Given the description of an element on the screen output the (x, y) to click on. 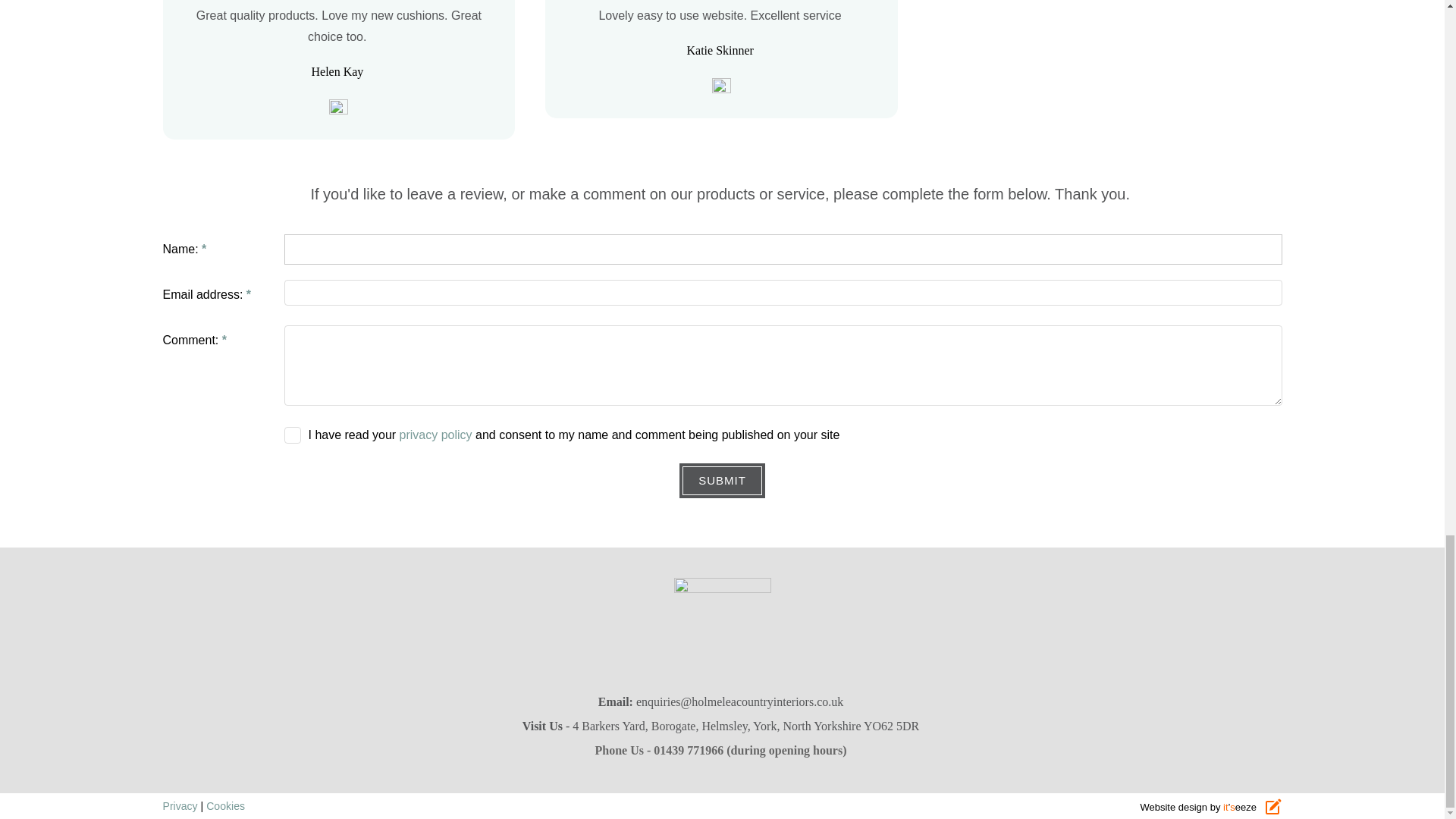
Cookies (225, 805)
Privacy (178, 805)
privacy policy (434, 434)
SUBMIT (722, 480)
